Given the description of an element on the screen output the (x, y) to click on. 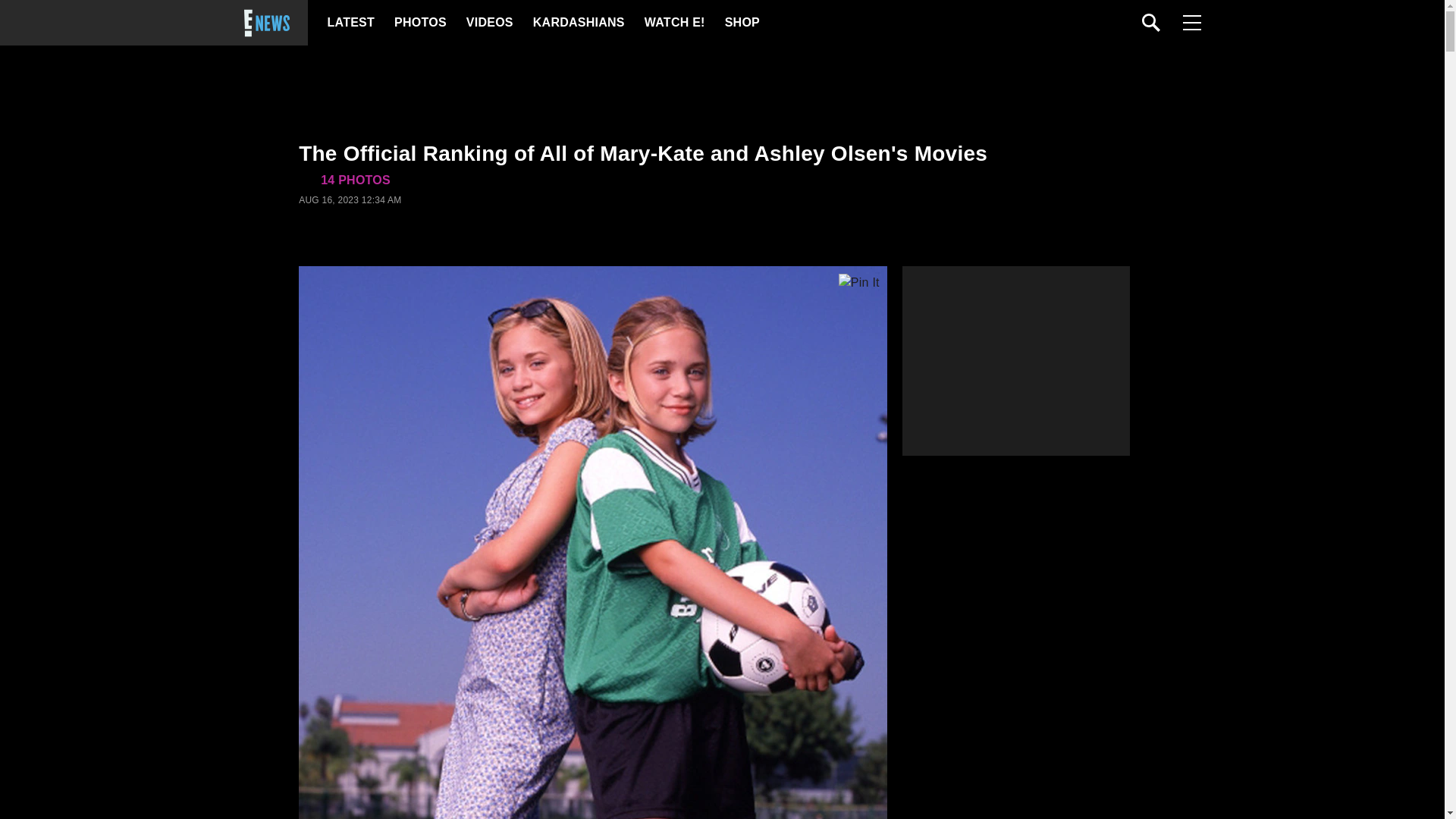
PHOTOS (419, 22)
LATEST (350, 22)
WATCH E! (673, 22)
VIDEOS (488, 22)
SHOP (741, 22)
KARDASHIANS (577, 22)
